Given the description of an element on the screen output the (x, y) to click on. 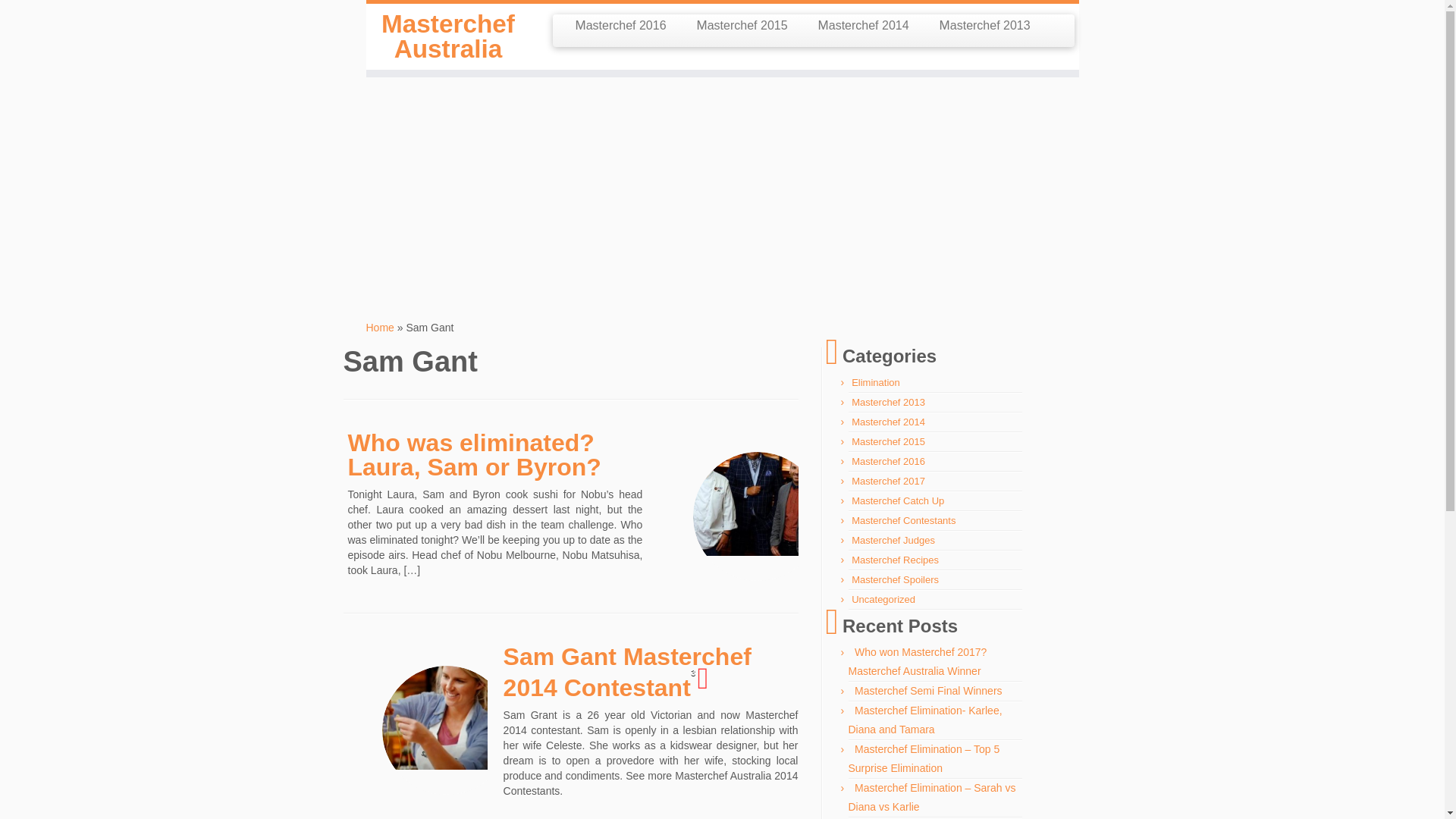
Masterchef 2016 (887, 460)
Elimination (875, 382)
Masterchef 2015 (887, 441)
Masterchef Australia (379, 327)
Masterchef 2014 (863, 25)
Sam Gant Masterchef 2014 Contestant (627, 671)
Who won Masterchef 2017? Masterchef Australia Winner (917, 661)
Masterchef Spoilers (895, 579)
Masterchef Elimination- Karlee, Diana and Tamara (924, 719)
Masterchef Australia (447, 36)
Sam Gant Masterchef 2014 Contestant (445, 703)
Masterchef Contestants (903, 520)
Masterchef 2013 (984, 25)
Permalink to Sam Gant Masterchef 2014 Contestant (627, 671)
Masterchef Recipes (895, 559)
